Given the description of an element on the screen output the (x, y) to click on. 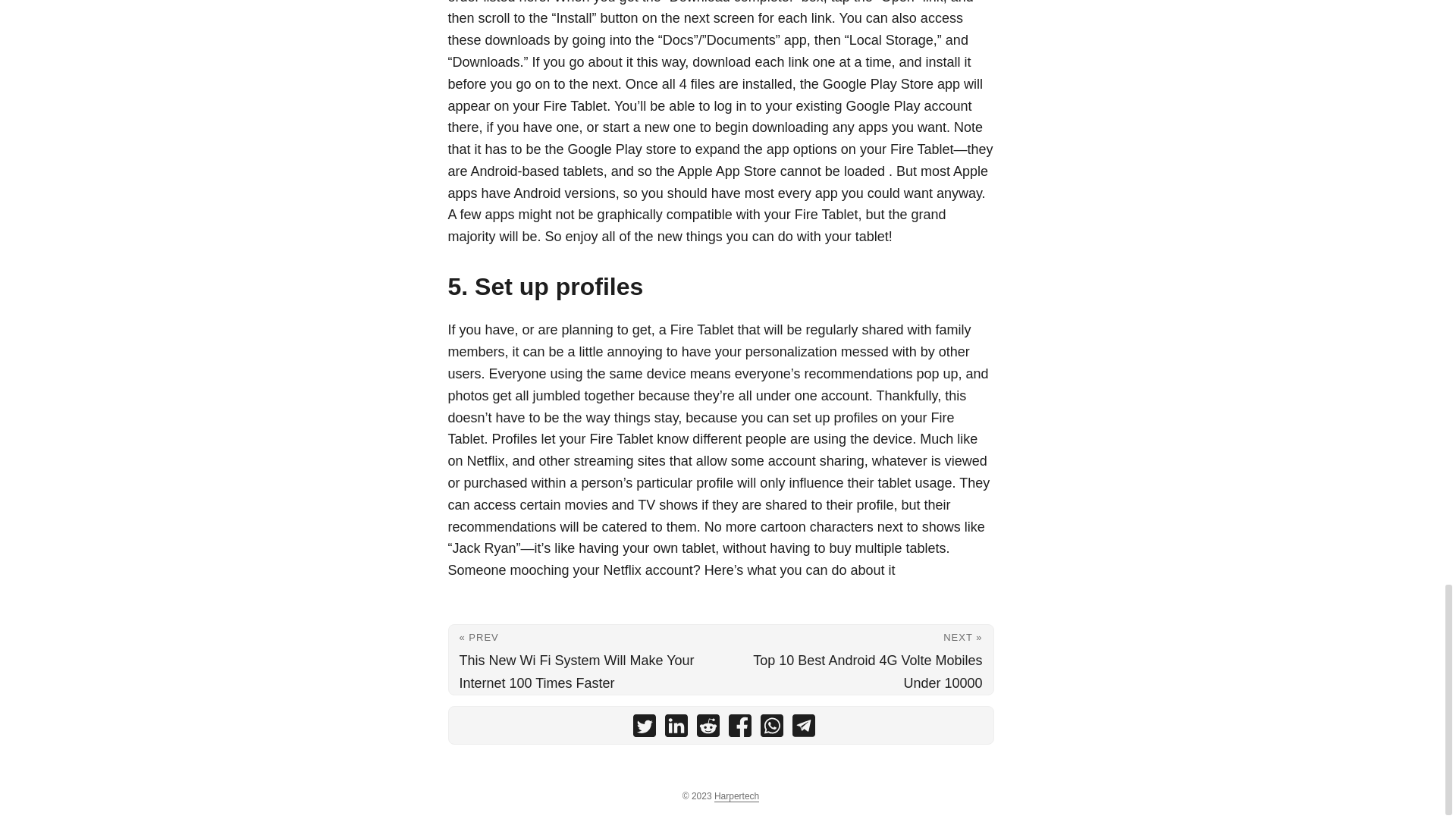
Harpertech (736, 796)
